Given the description of an element on the screen output the (x, y) to click on. 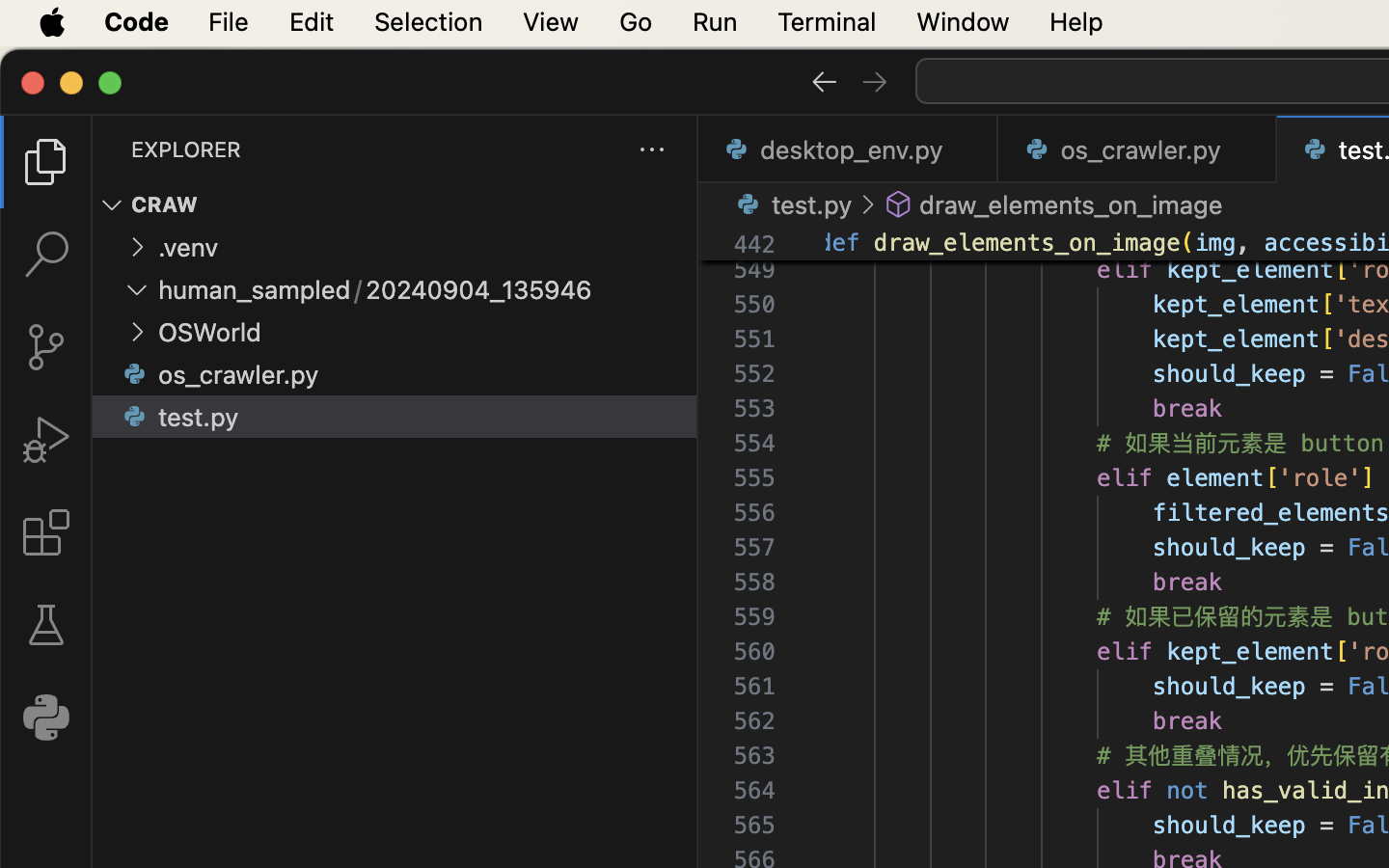
test.py Element type: AXStaticText (198, 417)
 Element type: AXButton (874, 80)
0  Element type: AXRadioButton (46, 439)
 Element type: AXStaticText (867, 204)
CRAW Element type: AXStaticText (164, 204)
